Given the description of an element on the screen output the (x, y) to click on. 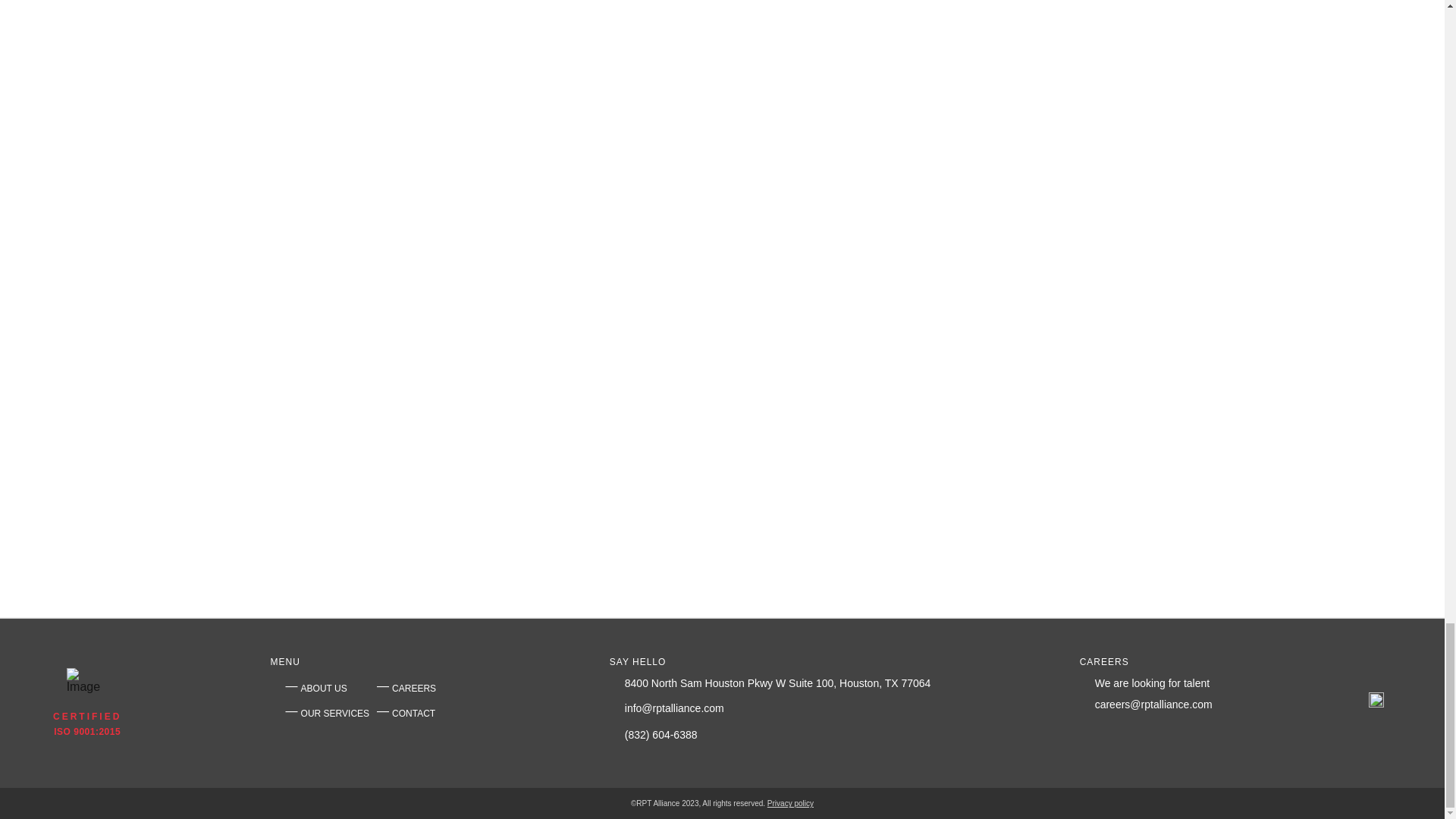
CAREERS (413, 687)
ABOUT US (324, 687)
CONTACT (413, 713)
OUR SERVICES (335, 713)
Privacy policy (790, 803)
